Given the description of an element on the screen output the (x, y) to click on. 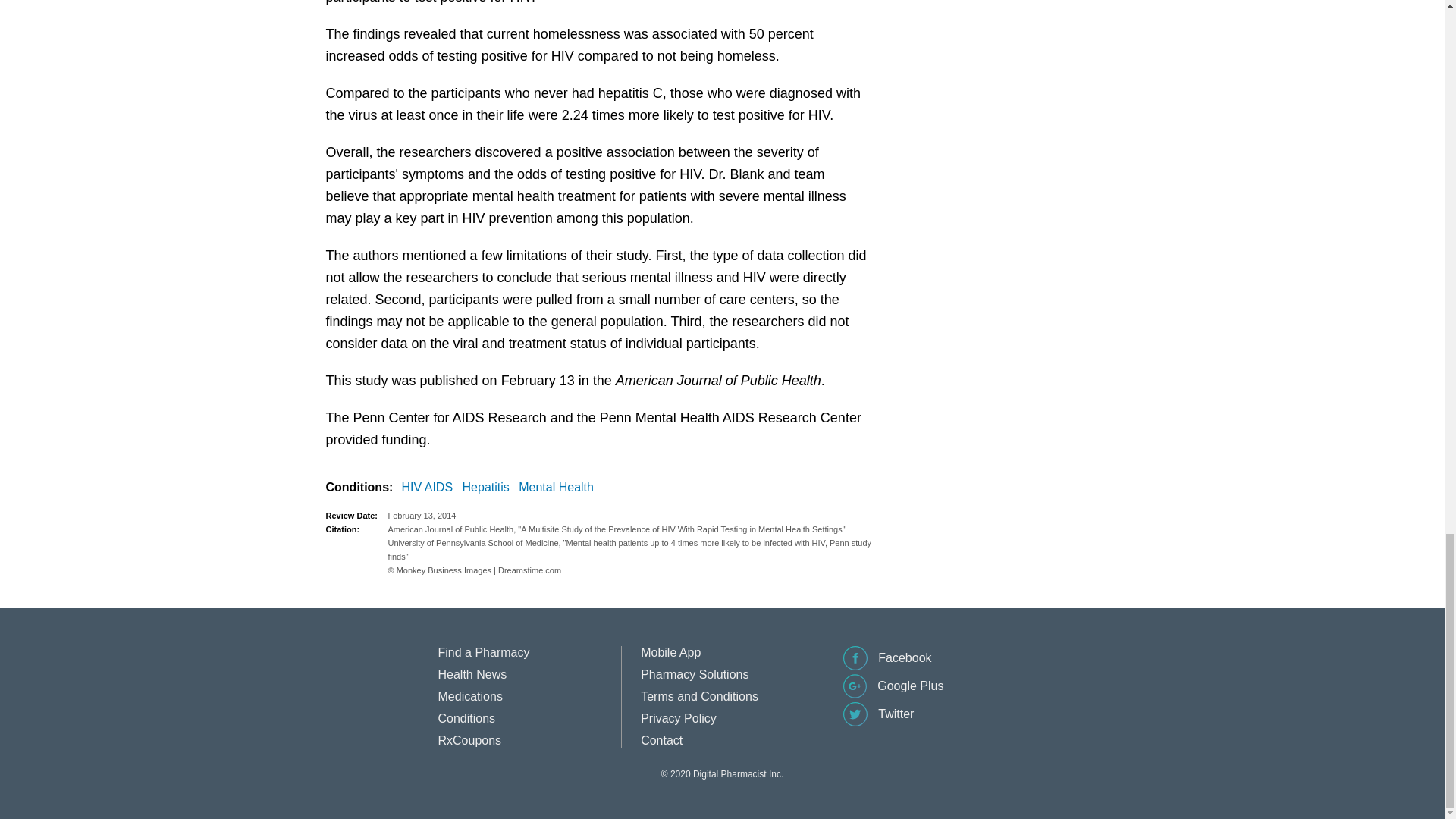
HIV AIDS (430, 487)
Mental Health (558, 487)
Hepatitis (489, 487)
